Given the description of an element on the screen output the (x, y) to click on. 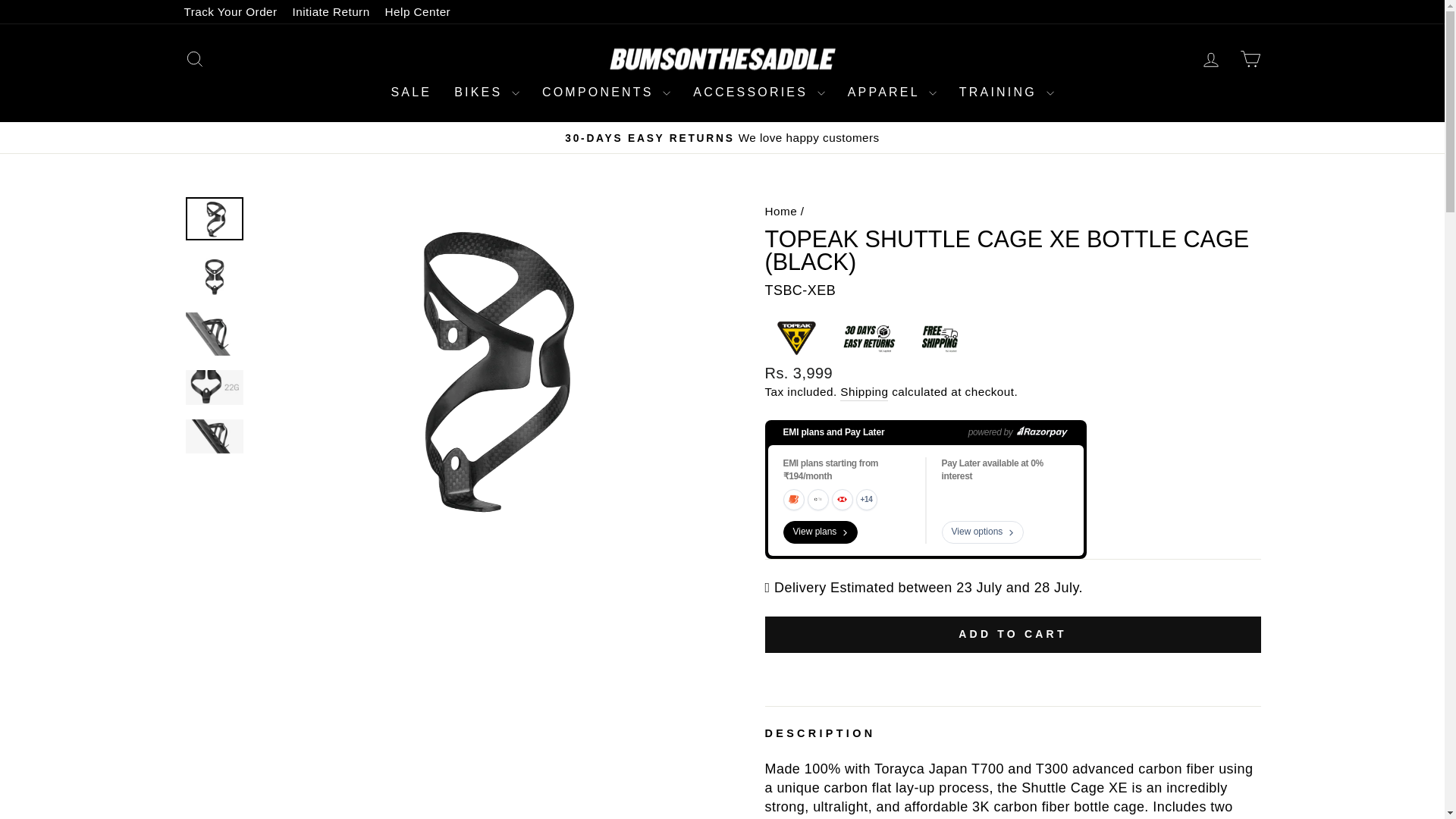
Back to the frontpage (780, 210)
ACCOUNT (1210, 59)
ICON-SEARCH (194, 58)
